Given the description of an element on the screen output the (x, y) to click on. 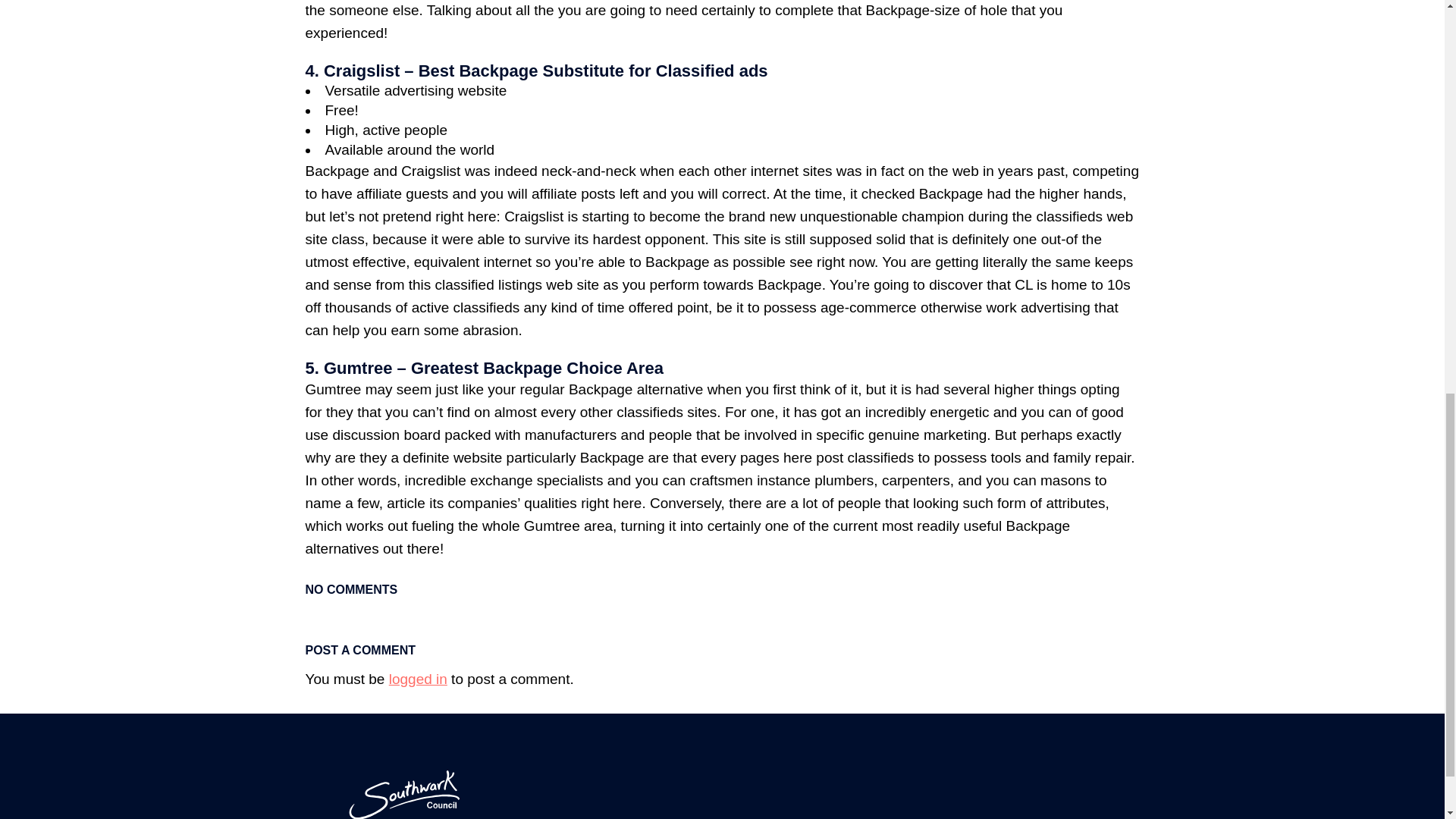
logged in (417, 678)
